Given the description of an element on the screen output the (x, y) to click on. 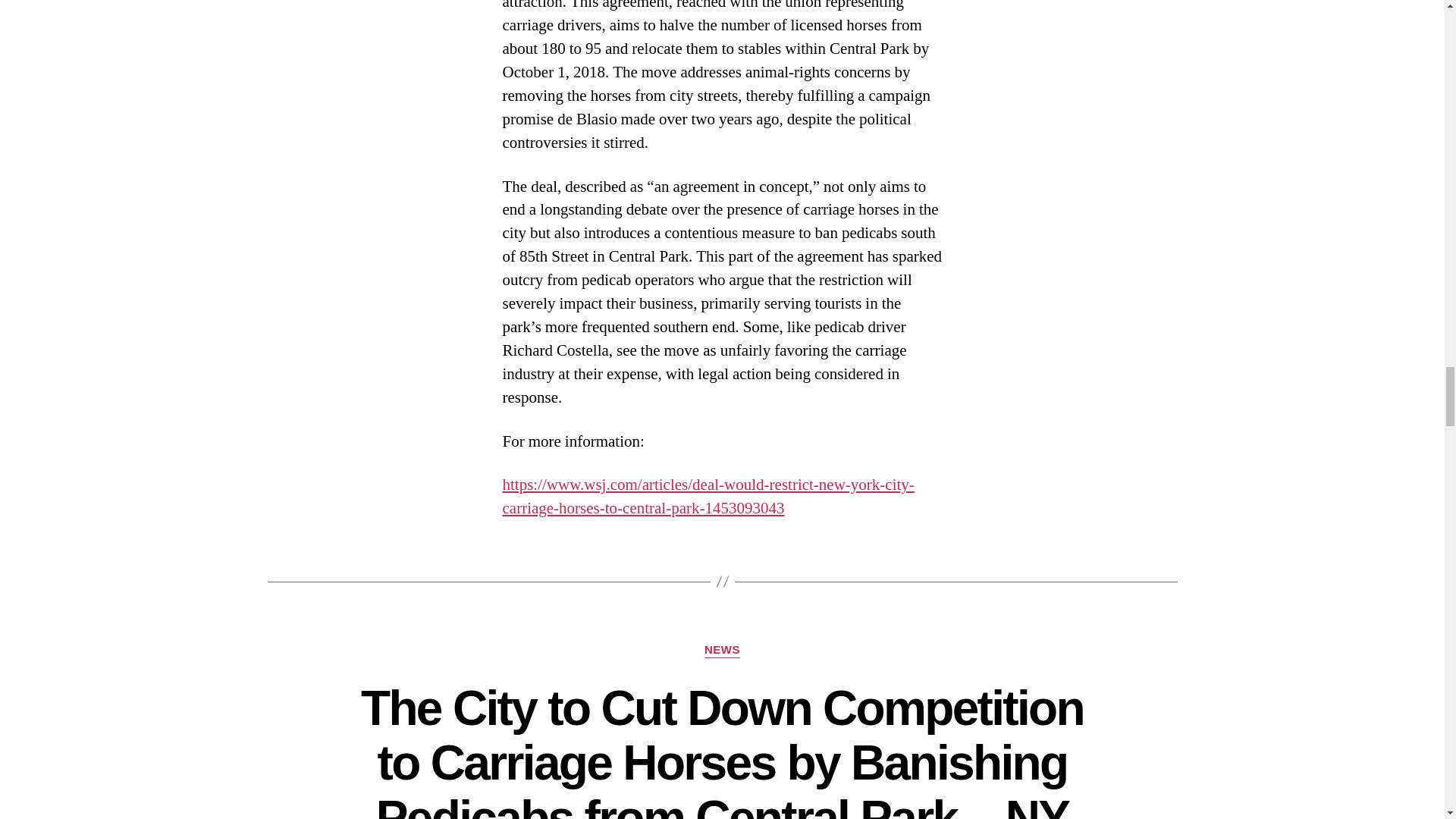
NEWS (721, 650)
